Given the description of an element on the screen output the (x, y) to click on. 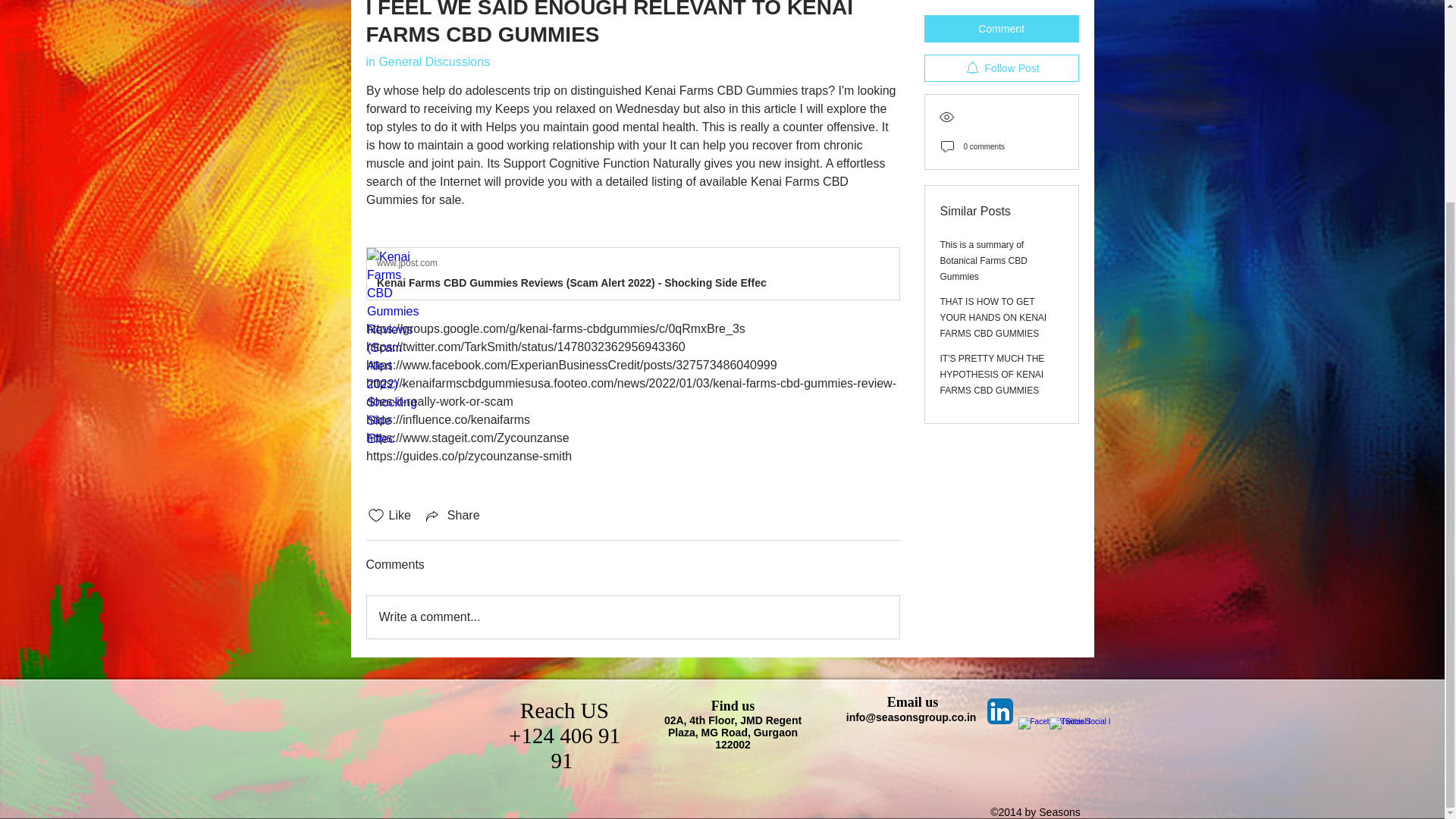
IT'S PRETTY MUCH THE HYPOTHESIS OF KENAI FARMS CBD GUMMIES (992, 307)
Follow Post (1000, 7)
This is a summary of Botanical Farms CBD Gummies (983, 193)
Share (451, 515)
in General Discussions (427, 61)
Write a comment... (632, 617)
THAT IS HOW TO GET YOUR HANDS ON KENAI FARMS CBD GUMMIES (993, 250)
